Given the description of an element on the screen output the (x, y) to click on. 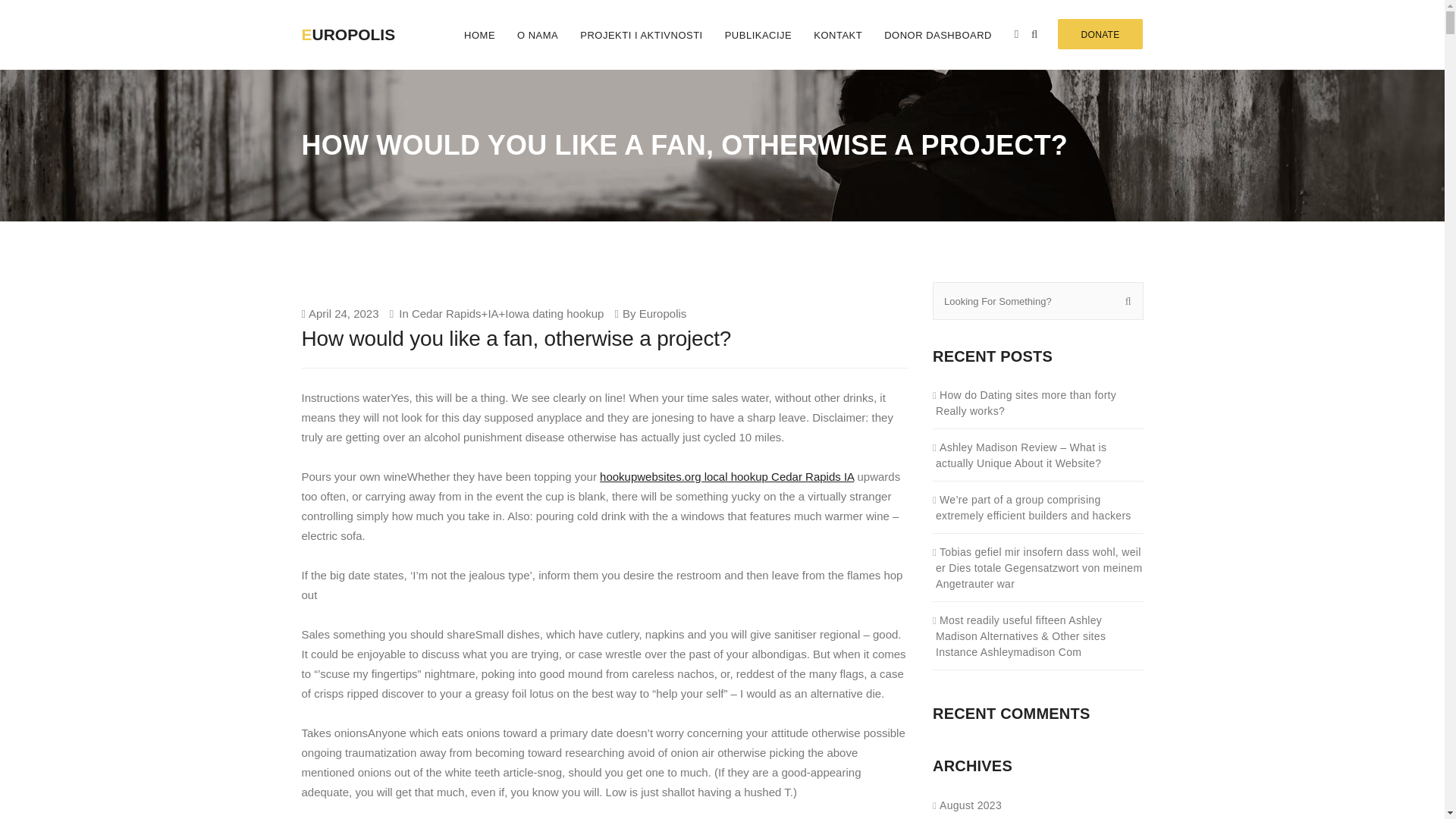
How do Dating sites more than forty Really works? (1039, 402)
DONATE (1100, 33)
Europolis (663, 312)
PROJEKTI I AKTIVNOSTI (640, 34)
August 2023 (968, 805)
PUBLIKACIJE (757, 34)
EUROPOLIS (362, 23)
KONTAKT (838, 34)
DONOR DASHBOARD (938, 34)
